Given the description of an element on the screen output the (x, y) to click on. 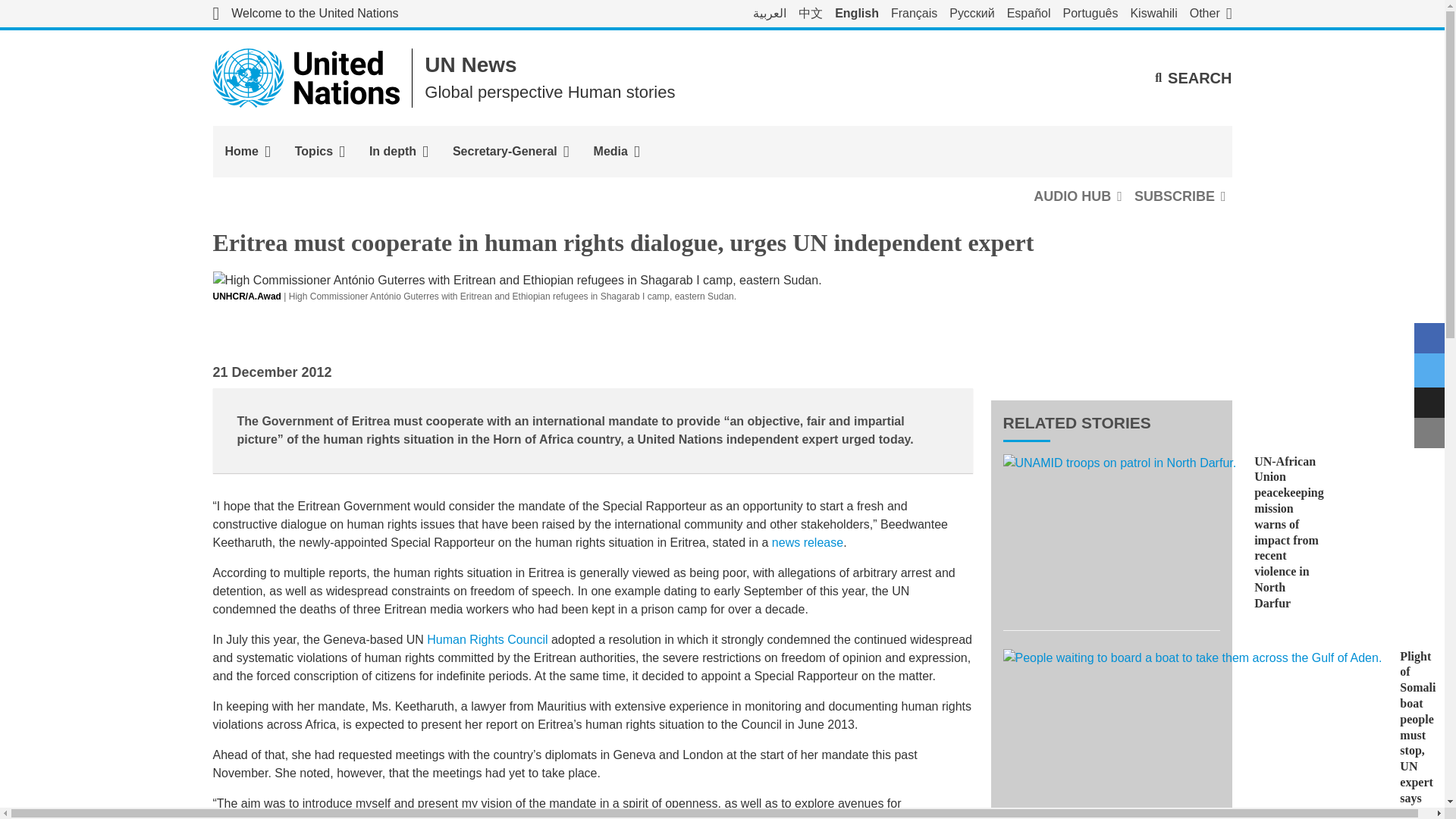
Other (1210, 13)
Welcome to the United Nations (304, 13)
UN News (470, 64)
Kiswahili (1152, 13)
Home (247, 151)
United Nations (305, 76)
United Nations (304, 13)
SEARCH (1192, 77)
English (856, 13)
Topics (319, 151)
